Given the description of an element on the screen output the (x, y) to click on. 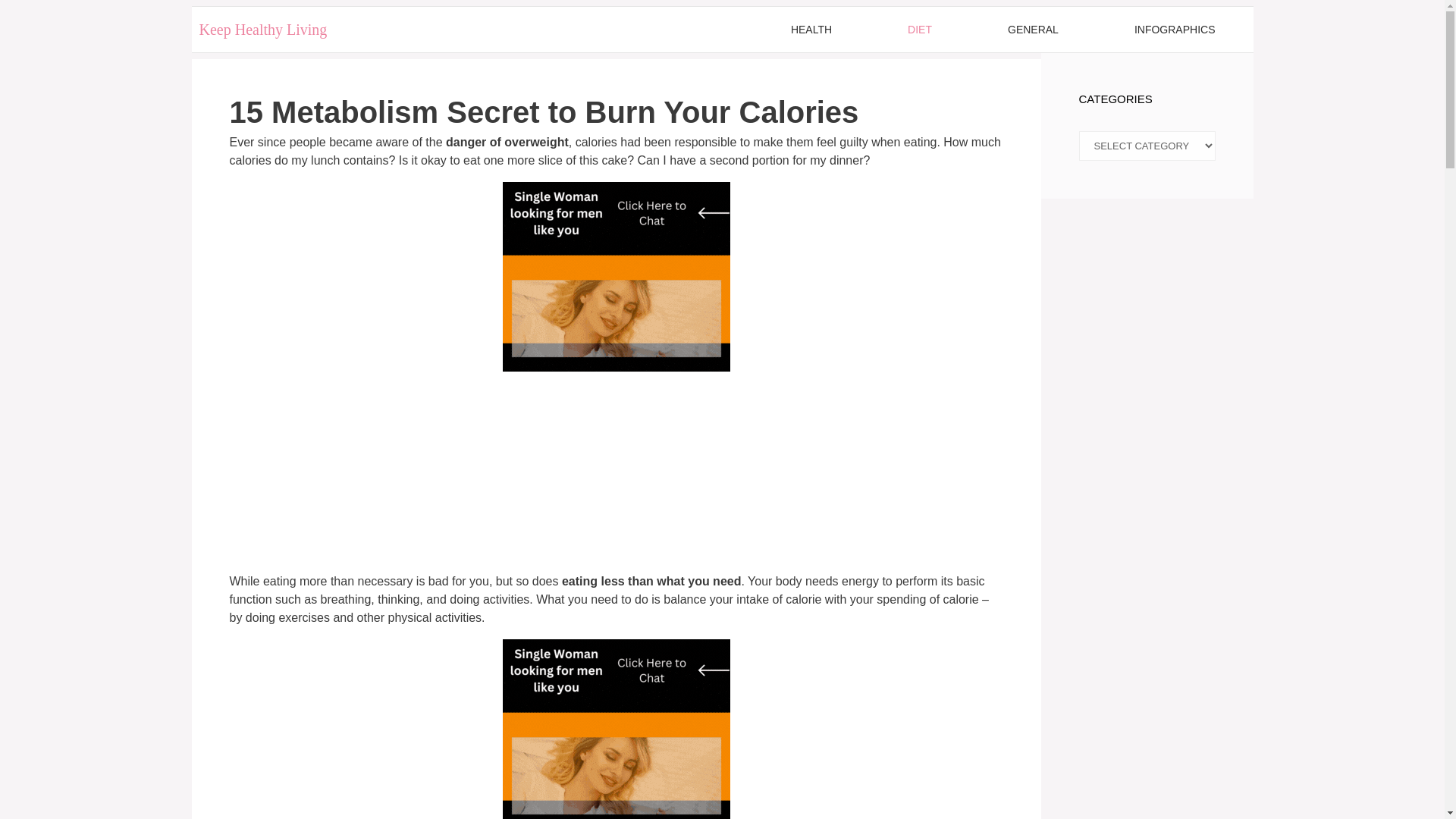
HEALTH (810, 29)
Keep Healthy Living (262, 29)
GENERAL (1032, 29)
DIET (919, 29)
INFOGRAPHICS (1174, 29)
